Given the description of an element on the screen output the (x, y) to click on. 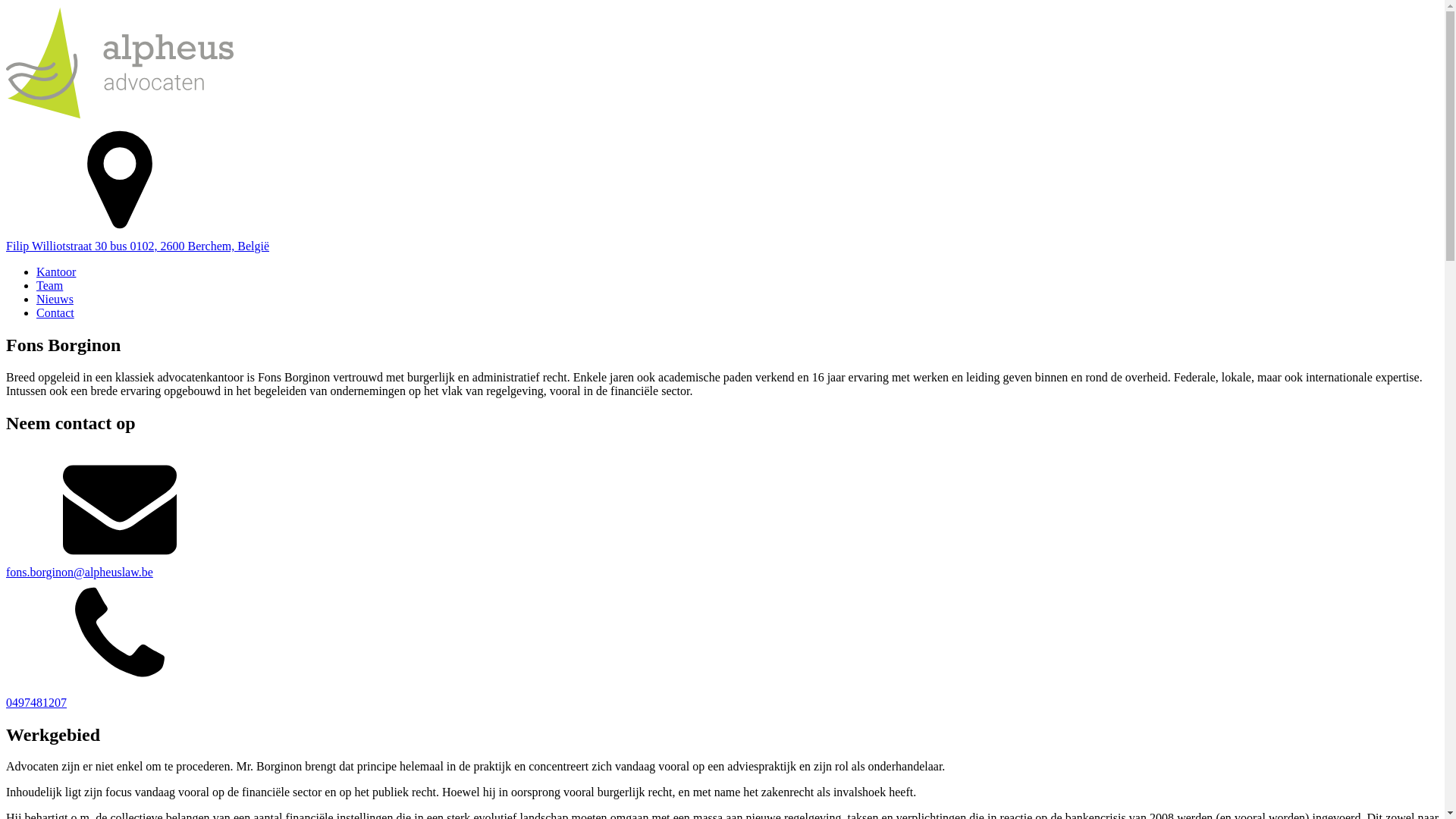
fons.borginon@alpheuslaw.be Element type: text (722, 513)
Nieuws Element type: text (54, 298)
0497481207 Element type: text (722, 644)
Team Element type: text (49, 285)
Kantoor Element type: text (55, 271)
Contact Element type: text (55, 312)
